Given the description of an element on the screen output the (x, y) to click on. 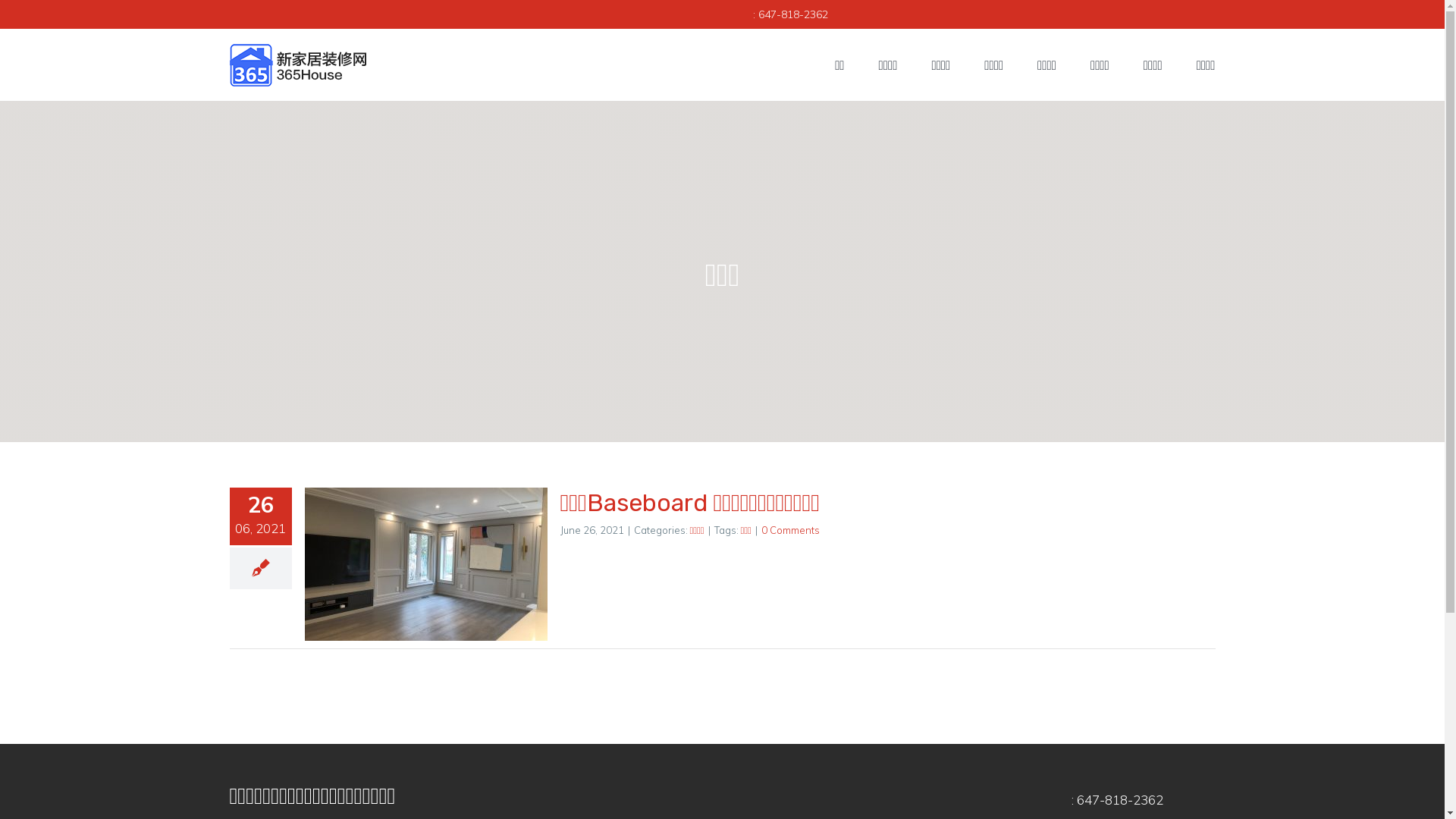
0 Comments Element type: text (790, 530)
647-818-2362 Element type: text (793, 14)
647-818-2362 Element type: text (1119, 799)
